Given the description of an element on the screen output the (x, y) to click on. 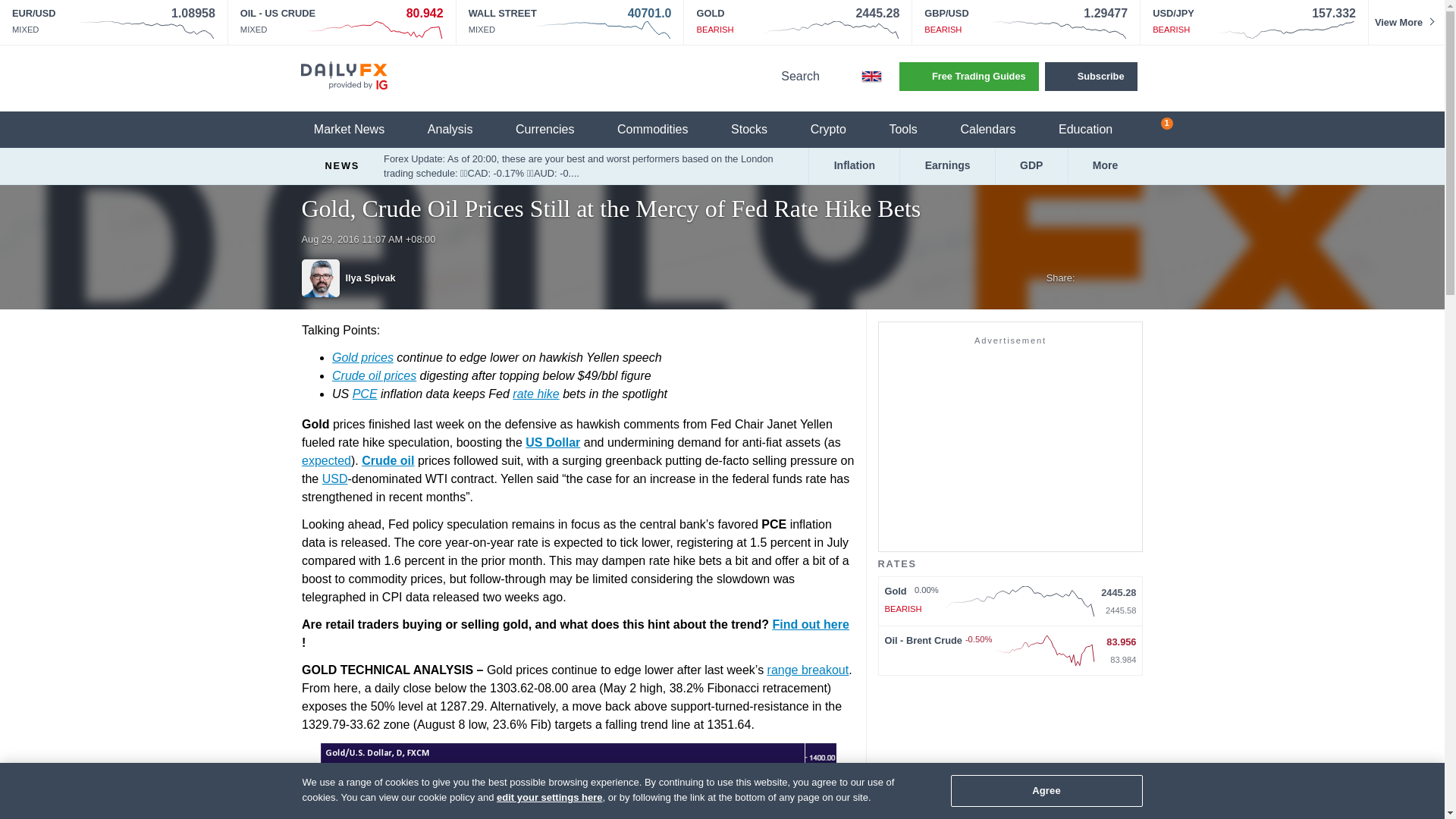
Currencies (554, 129)
USD (334, 478)
PCE (364, 393)
Free Trading Guides (969, 76)
Analysis (458, 129)
Crude oil prices (373, 375)
US Dollar (552, 441)
Crude oil (387, 460)
Gold prices (362, 357)
Subscribe (1091, 76)
rate hike (535, 393)
Market News (357, 129)
